Given the description of an element on the screen output the (x, y) to click on. 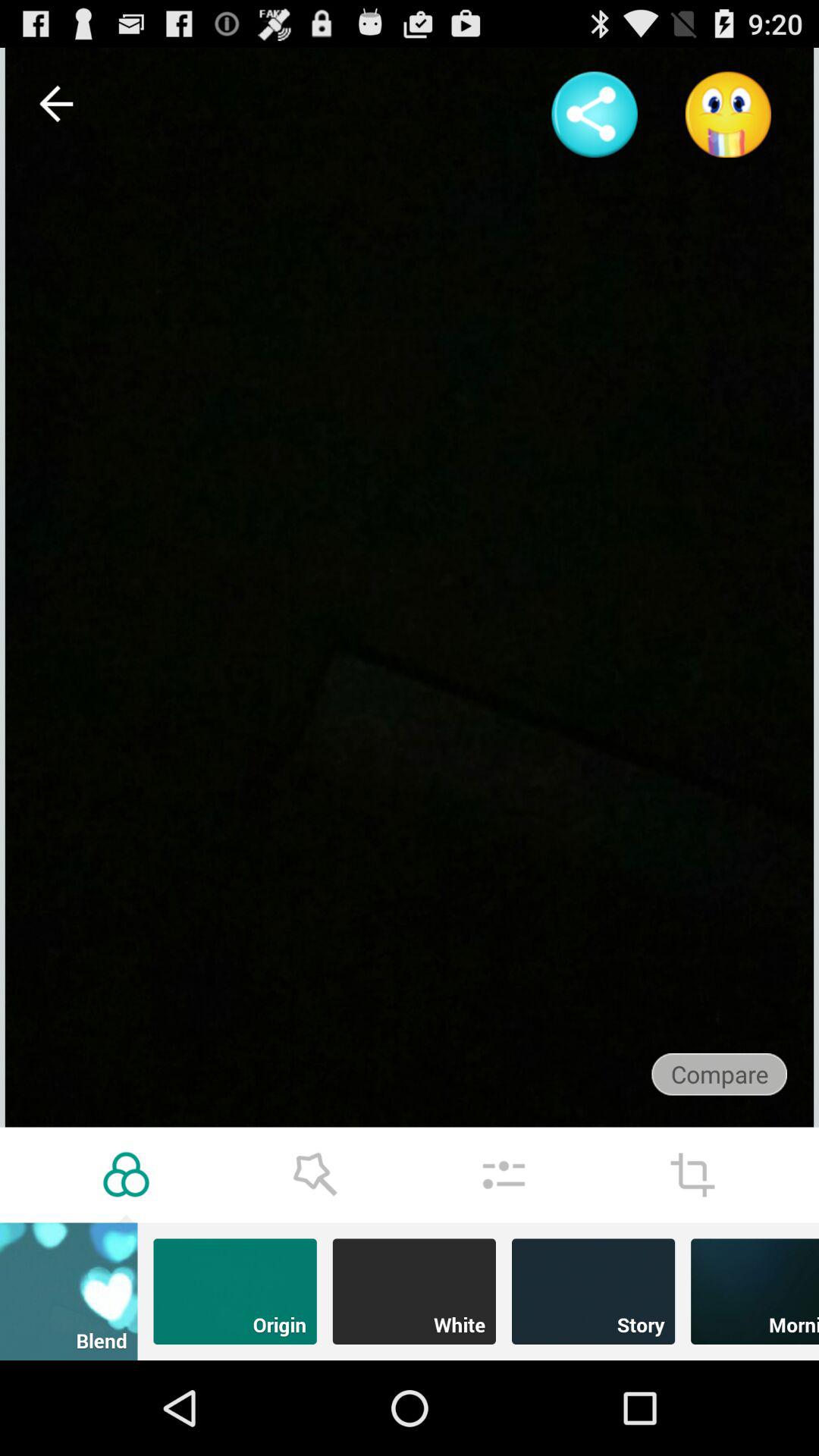
apply filter (125, 1174)
